Given the description of an element on the screen output the (x, y) to click on. 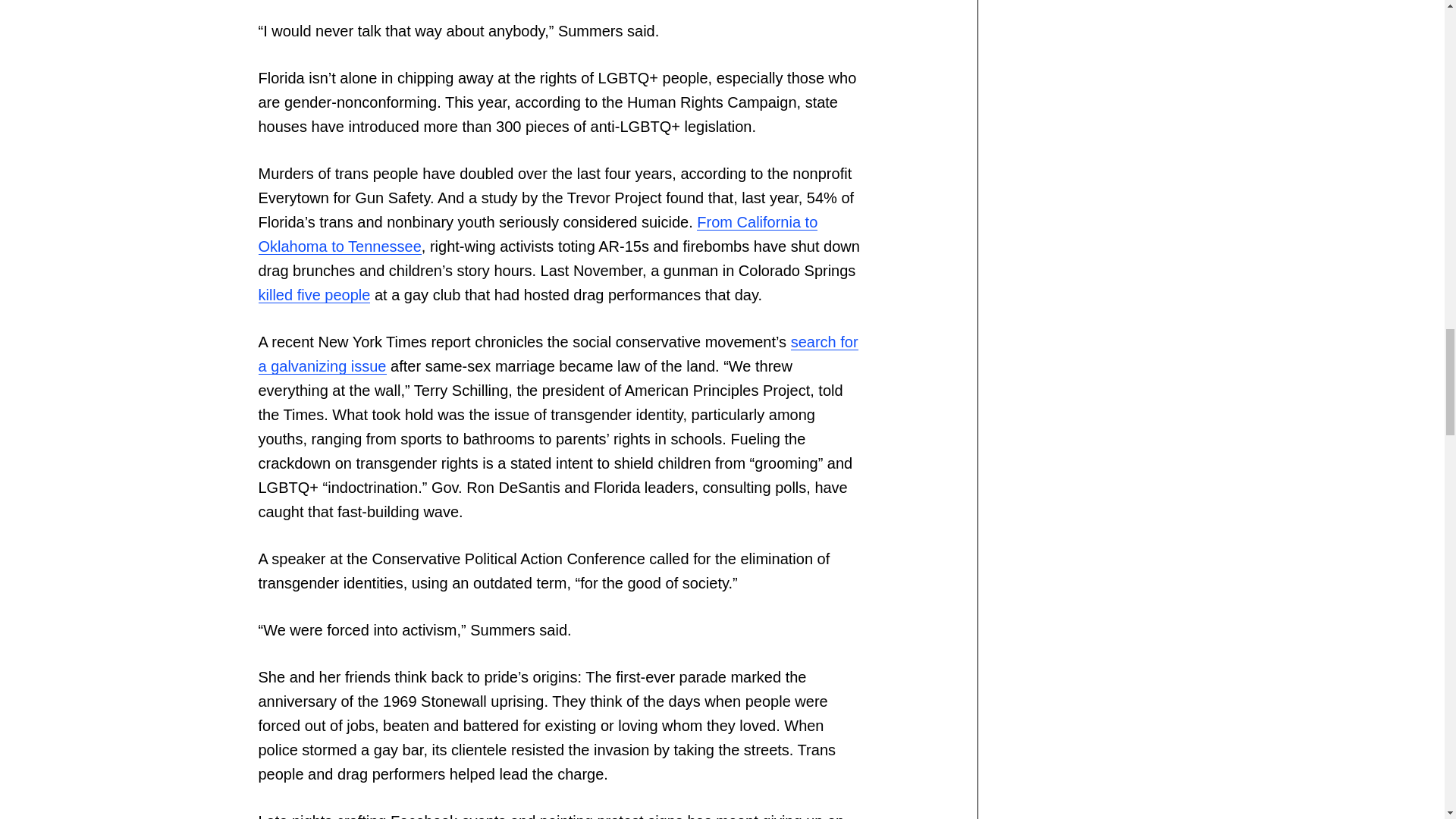
killed five people (313, 294)
search for a galvanizing issue (557, 353)
From California to Oklahoma to Tennessee (536, 233)
